Given the description of an element on the screen output the (x, y) to click on. 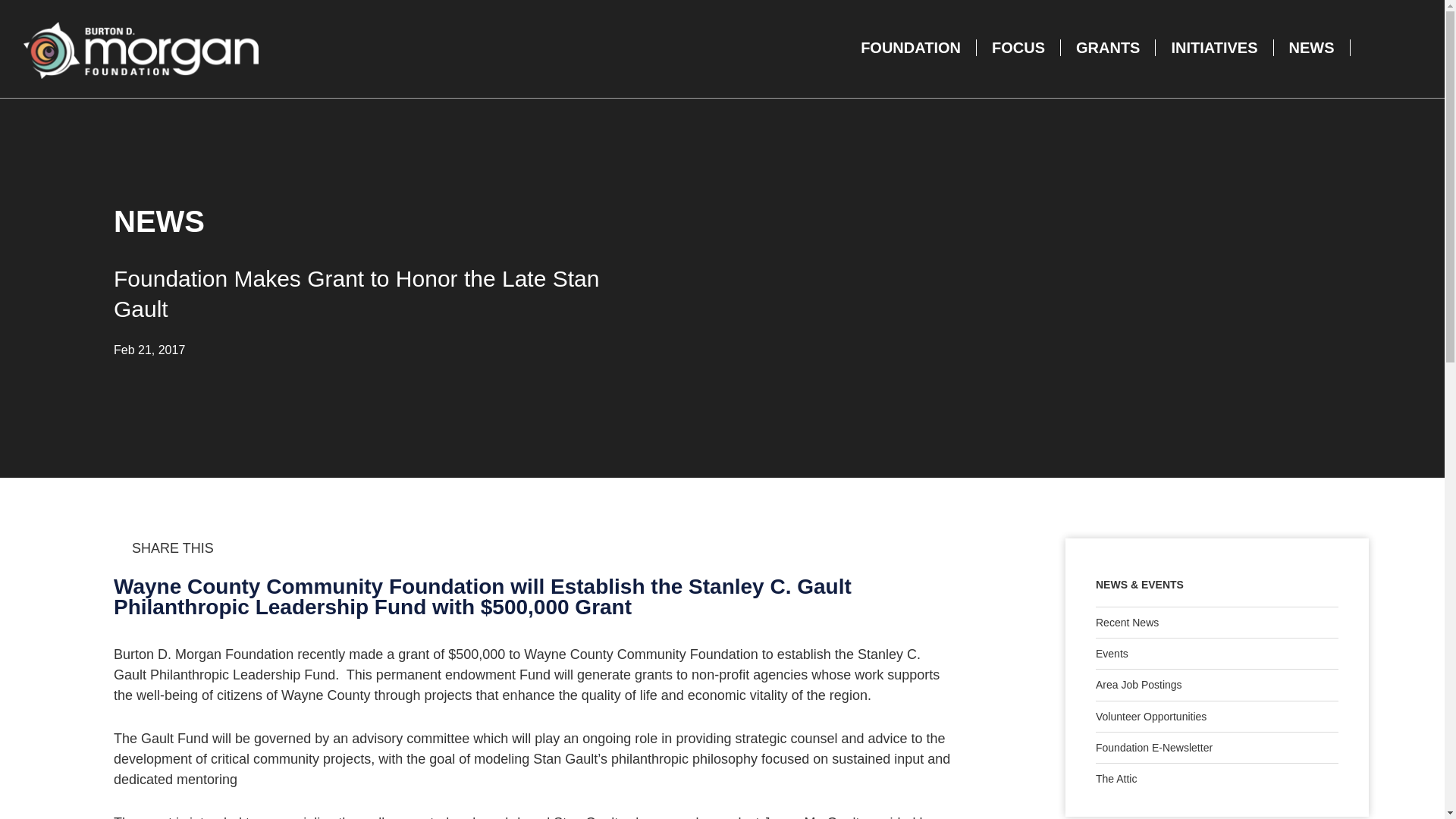
Tuesday, February 21, 2017 - 19:00 (148, 349)
SEARCH (1381, 47)
Area Job Postings (1217, 684)
Volunteer Opportunities (1217, 716)
Recent News (1217, 622)
Foundation E-Newsletter (1217, 747)
Skip to main content (108, 50)
Events (1217, 653)
The Attic (1217, 778)
